Given the description of an element on the screen output the (x, y) to click on. 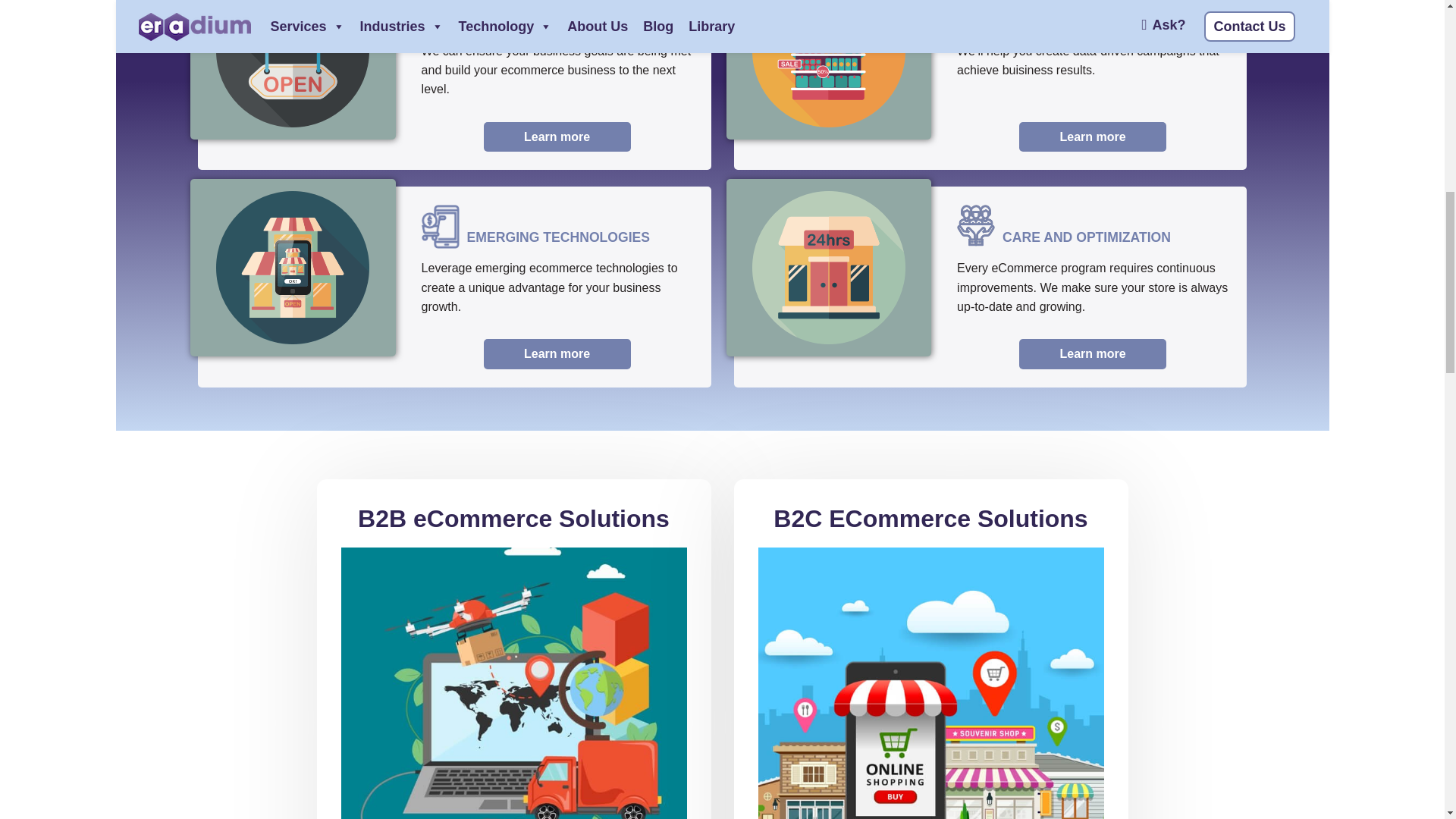
Learn more (556, 353)
Learn more (1092, 353)
Learn more (1092, 136)
Learn more (556, 136)
